Given the description of an element on the screen output the (x, y) to click on. 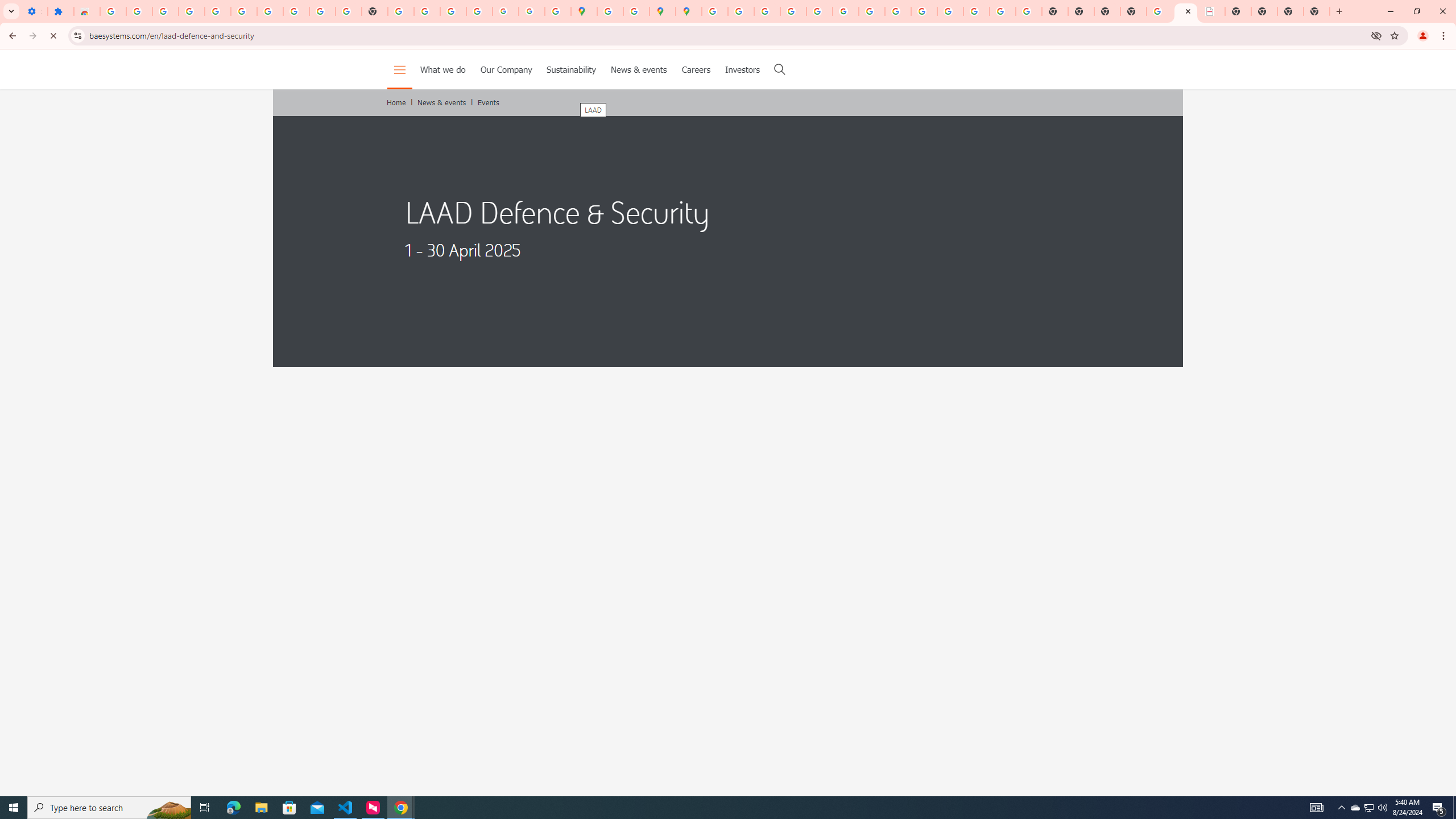
Privacy Help Center - Policies Help (766, 11)
What we do (443, 69)
News & events (639, 69)
Google Images (1028, 11)
Sign in - Google Accounts (243, 11)
Reviews: Helix Fruit Jump Arcade Game (86, 11)
YouTube (322, 11)
